Given the description of an element on the screen output the (x, y) to click on. 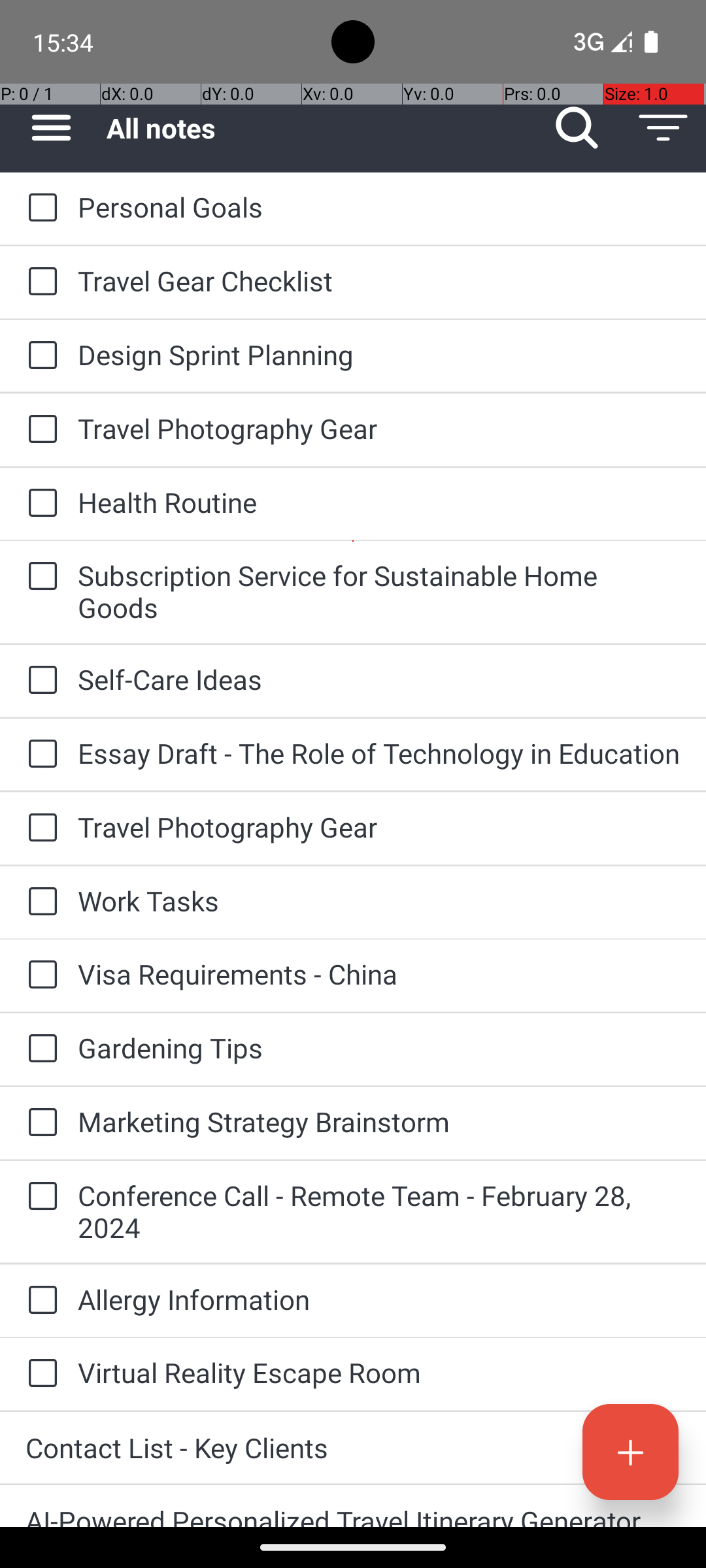
to-do: Personal Goals Element type: android.widget.CheckBox (38, 208)
Personal Goals Element type: android.widget.TextView (378, 206)
to-do: Travel Gear Checklist Element type: android.widget.CheckBox (38, 282)
Travel Gear Checklist Element type: android.widget.TextView (378, 280)
to-do: Subscription Service for Sustainable Home Goods Element type: android.widget.CheckBox (38, 576)
Subscription Service for Sustainable Home Goods Element type: android.widget.TextView (378, 590)
to-do: Work Tasks Element type: android.widget.CheckBox (38, 902)
Work Tasks Element type: android.widget.TextView (378, 900)
to-do: Visa Requirements - China Element type: android.widget.CheckBox (38, 975)
Visa Requirements - China Element type: android.widget.TextView (378, 973)
to-do: Marketing Strategy Brainstorm Element type: android.widget.CheckBox (38, 1123)
Marketing Strategy Brainstorm Element type: android.widget.TextView (378, 1121)
to-do: Conference Call - Remote Team - February 28, 2024 Element type: android.widget.CheckBox (38, 1196)
Conference Call - Remote Team - February 28, 2024 Element type: android.widget.TextView (378, 1210)
Contact List - Key Clients Element type: android.widget.TextView (352, 1447)
AI-Powered Personalized Travel Itinerary Generator Element type: android.widget.TextView (352, 1514)
